Given the description of an element on the screen output the (x, y) to click on. 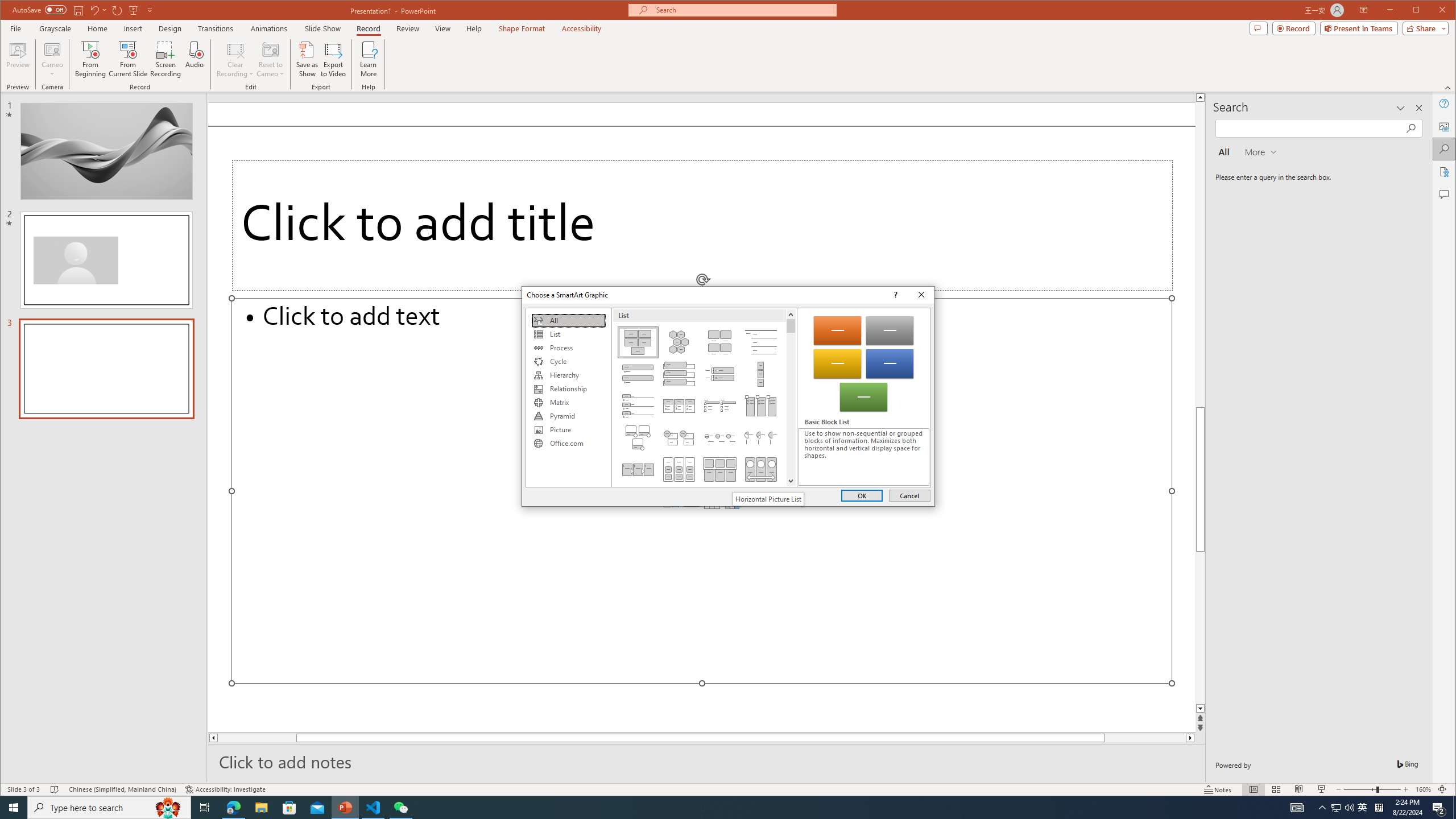
Picture Accent List (761, 405)
Lined List (761, 342)
